Given the description of an element on the screen output the (x, y) to click on. 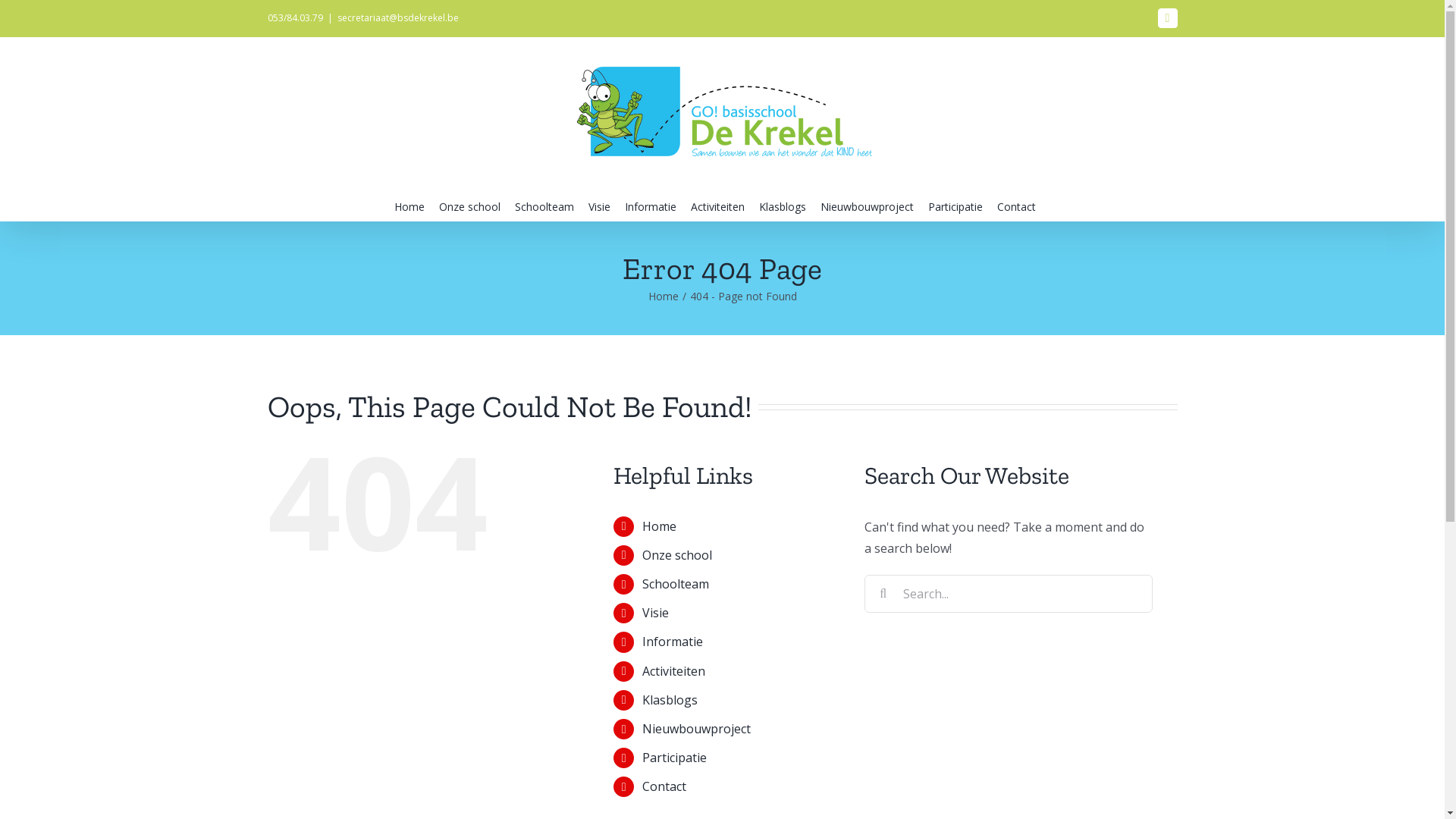
Schoolteam Element type: text (544, 205)
Activiteiten Element type: text (673, 670)
Klasblogs Element type: text (669, 699)
Visie Element type: text (599, 205)
Contact Element type: text (1016, 205)
Onze school Element type: text (469, 205)
Facebook Element type: text (1166, 18)
Activiteiten Element type: text (717, 205)
Nieuwbouwproject Element type: text (696, 728)
Home Element type: text (662, 295)
Schoolteam Element type: text (675, 583)
Informatie Element type: text (650, 205)
Klasblogs Element type: text (782, 205)
Participatie Element type: text (674, 757)
Onze school Element type: text (677, 554)
secretariaat@bsdekrekel.be Element type: text (397, 17)
Participatie Element type: text (955, 205)
Home Element type: text (409, 205)
Informatie Element type: text (672, 641)
Nieuwbouwproject Element type: text (866, 205)
Contact Element type: text (664, 786)
Home Element type: text (659, 525)
Visie Element type: text (655, 612)
